Given the description of an element on the screen output the (x, y) to click on. 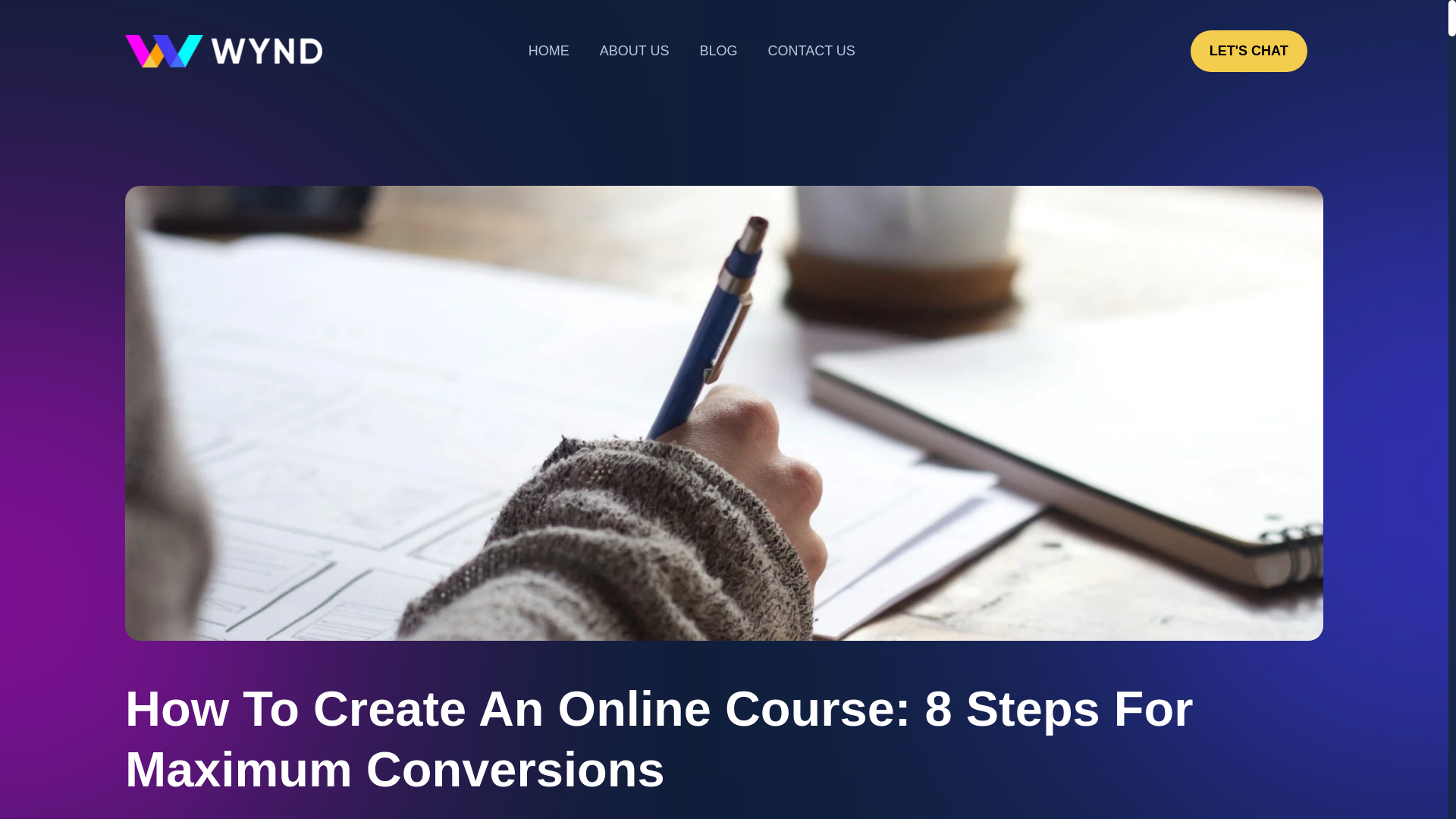
LET'S CHAT (1249, 51)
CONTACT US (810, 51)
BLOG (718, 51)
HOME (549, 51)
ABOUT US (634, 51)
